Given the description of an element on the screen output the (x, y) to click on. 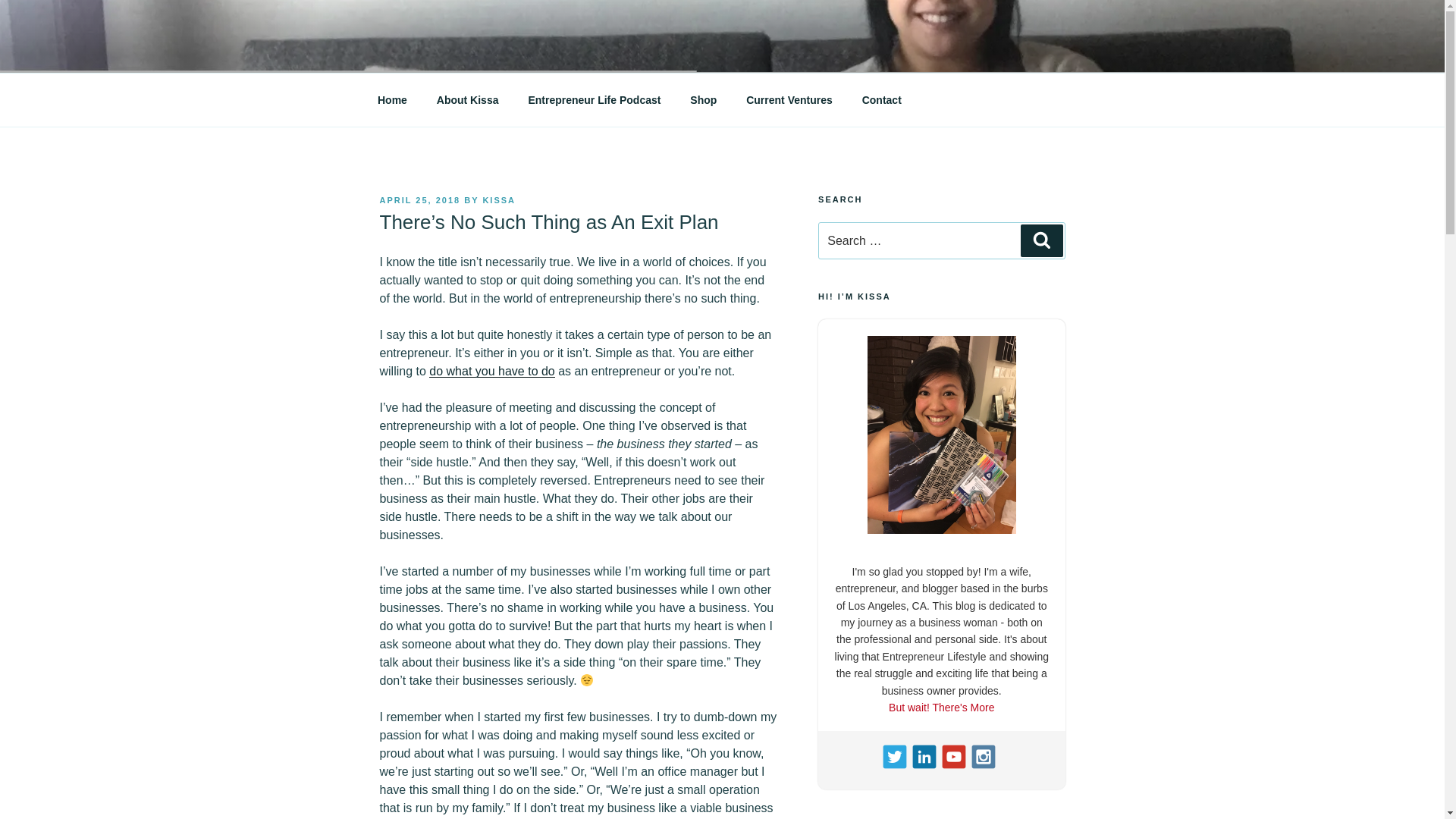
But wait! There's More (940, 707)
Instagram (984, 757)
Contact (881, 99)
Twitter (895, 757)
Entrepreneur Life Podcast (594, 99)
Current Ventures (789, 99)
do what you have to do (491, 370)
LinkedIn (924, 757)
KISSA (498, 199)
YouTube (955, 757)
About Kissa (467, 99)
Shop (703, 99)
APRIL 25, 2018 (419, 199)
Home (392, 99)
Search (1041, 240)
